Given the description of an element on the screen output the (x, y) to click on. 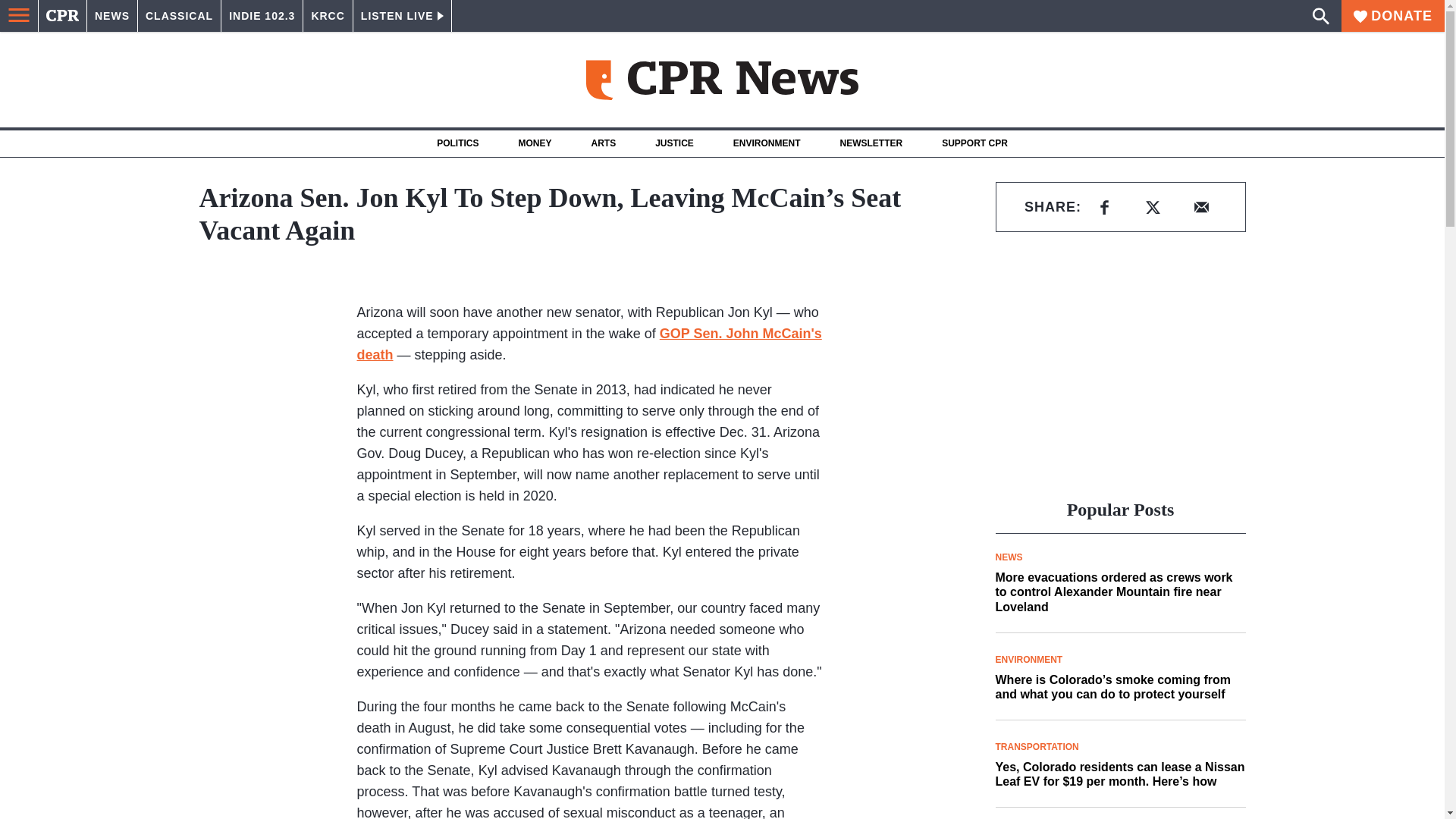
KRCC (327, 15)
LISTEN LIVE (402, 15)
INDIE 102.3 (261, 15)
NEWS (111, 15)
CLASSICAL (179, 15)
